Given the description of an element on the screen output the (x, y) to click on. 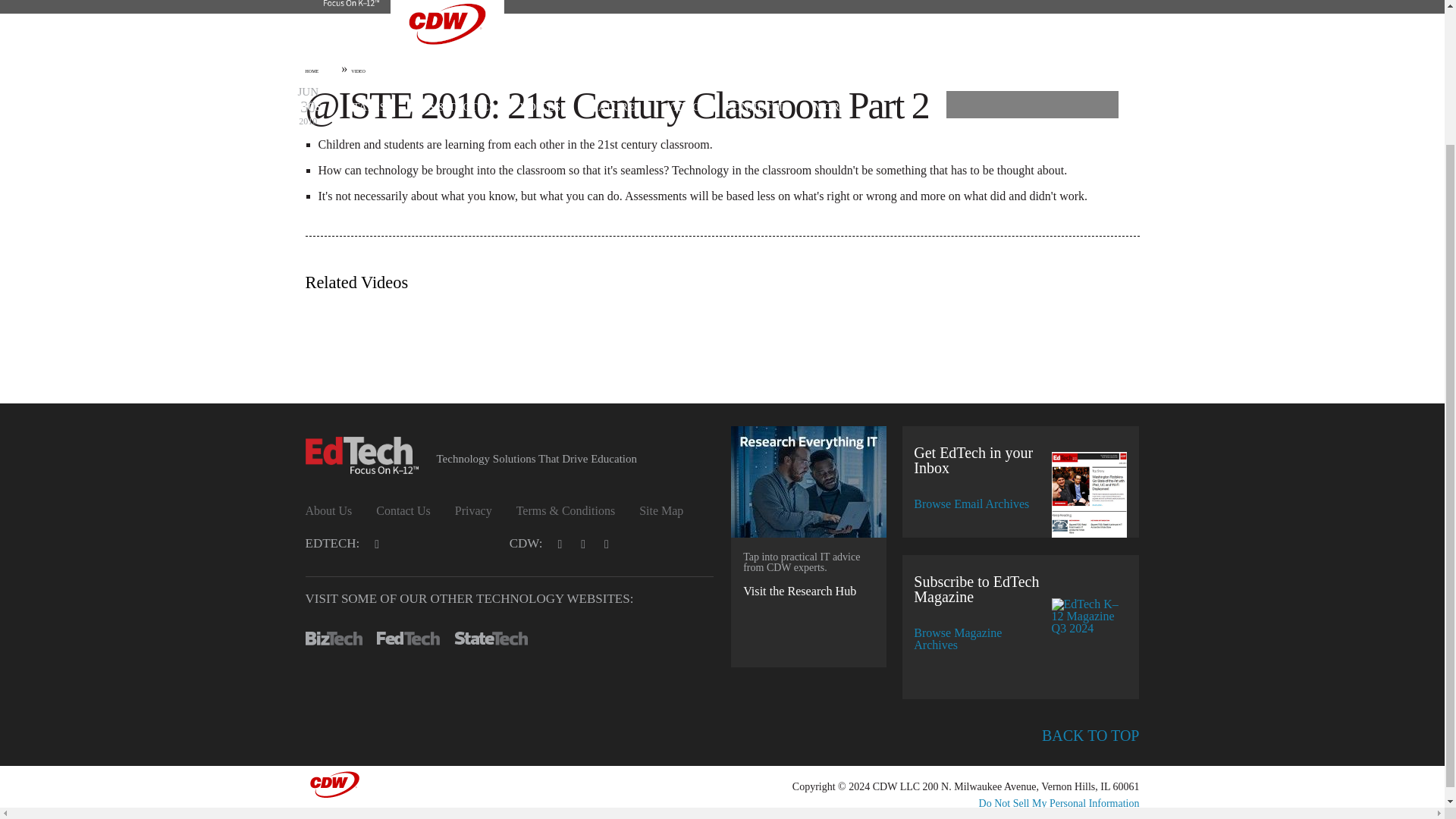
Search (1097, 110)
Home (332, 6)
STATES (365, 107)
CDW (446, 75)
Search (1097, 110)
VOICES (539, 107)
FEATURES (612, 107)
